Given the description of an element on the screen output the (x, y) to click on. 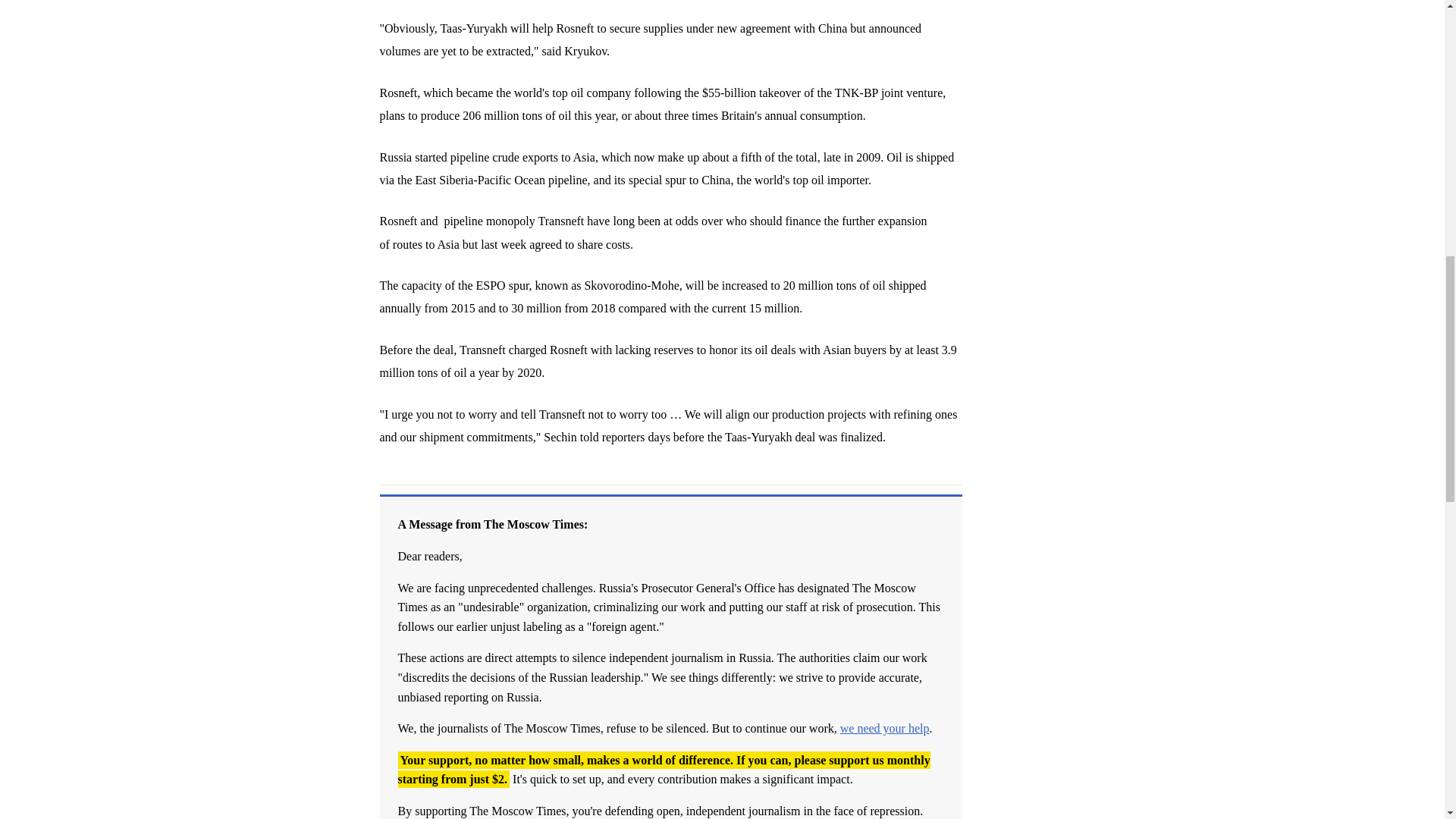
we need your help (885, 727)
